Given the description of an element on the screen output the (x, y) to click on. 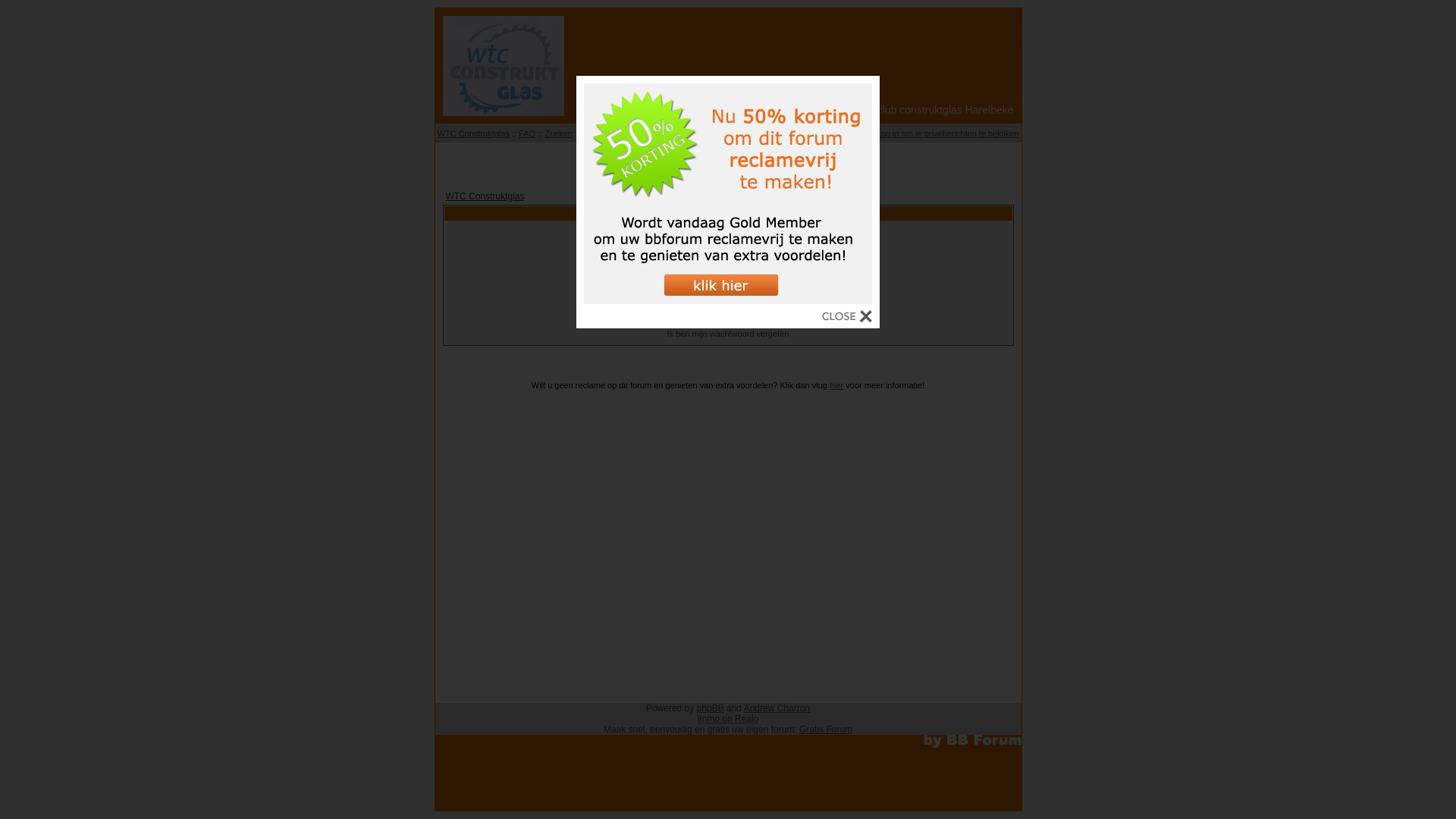
sluiten Element type: hover (847, 318)
Registreren Element type: text (771, 133)
Andrew Charron Element type: text (776, 707)
Inloggen Element type: text (727, 315)
WTC Construktglas Element type: text (473, 133)
Ik ben mijn wachtwoord vergeten Element type: text (728, 333)
WTC Construktglas Element type: text (484, 196)
FAQ Element type: text (526, 133)
immo op Realo Element type: text (728, 718)
klik voor meer informatie Element type: hover (727, 299)
Gratis Forum Element type: text (825, 729)
Inloggen Element type: text (818, 133)
Gebruikersgroepen Element type: text (679, 133)
Zoeken Element type: text (558, 133)
hier Element type: text (836, 384)
Gebruikerslijst Element type: text (607, 133)
Viraal Nieuws Element type: text (727, 160)
Profiel Element type: text (854, 133)
phpBB Element type: text (710, 707)
